Given the description of an element on the screen output the (x, y) to click on. 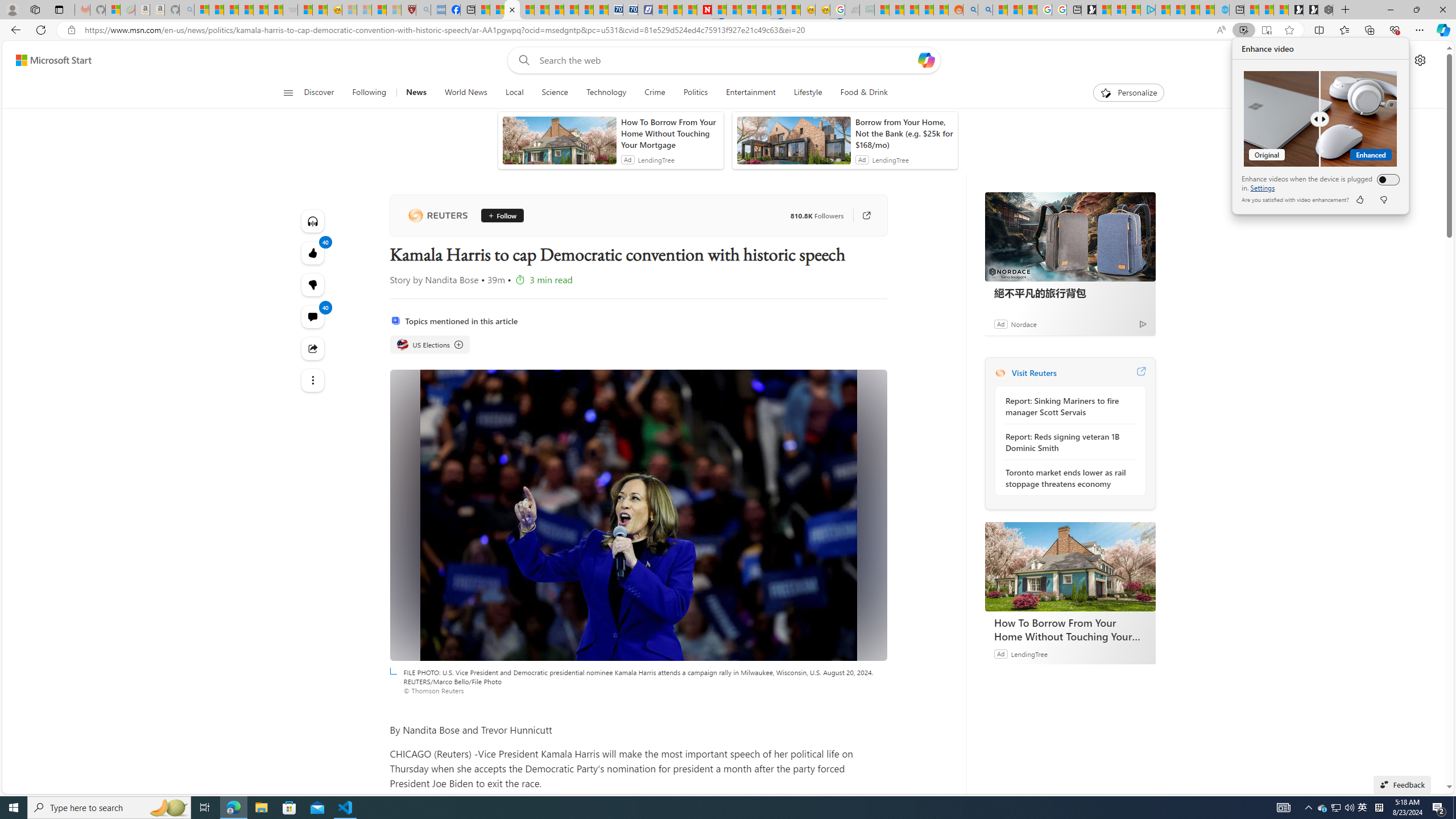
Visit Reuters website (1140, 372)
Show desktop (1454, 807)
